Given the description of an element on the screen output the (x, y) to click on. 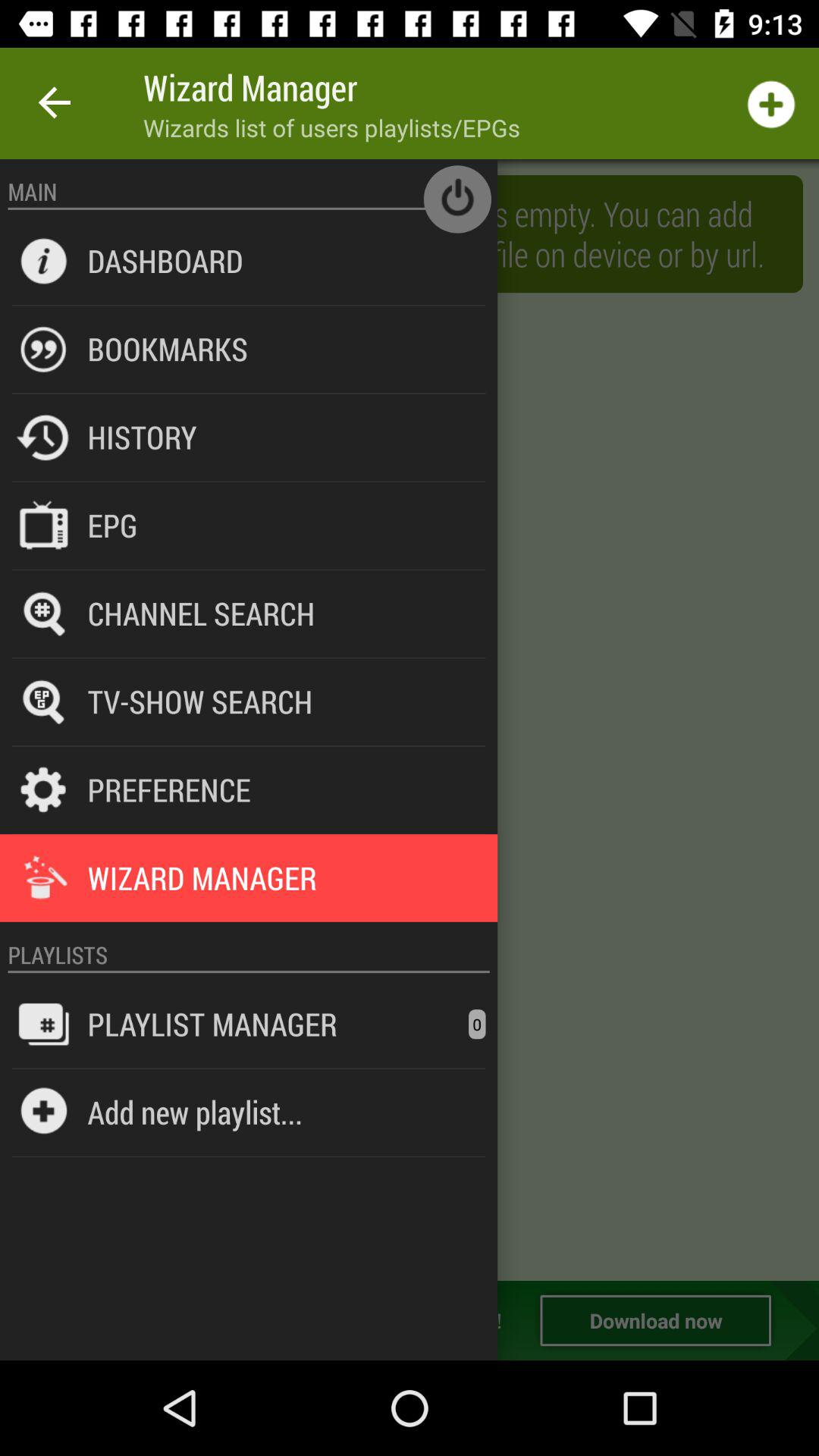
choose the download now (655, 1320)
